Given the description of an element on the screen output the (x, y) to click on. 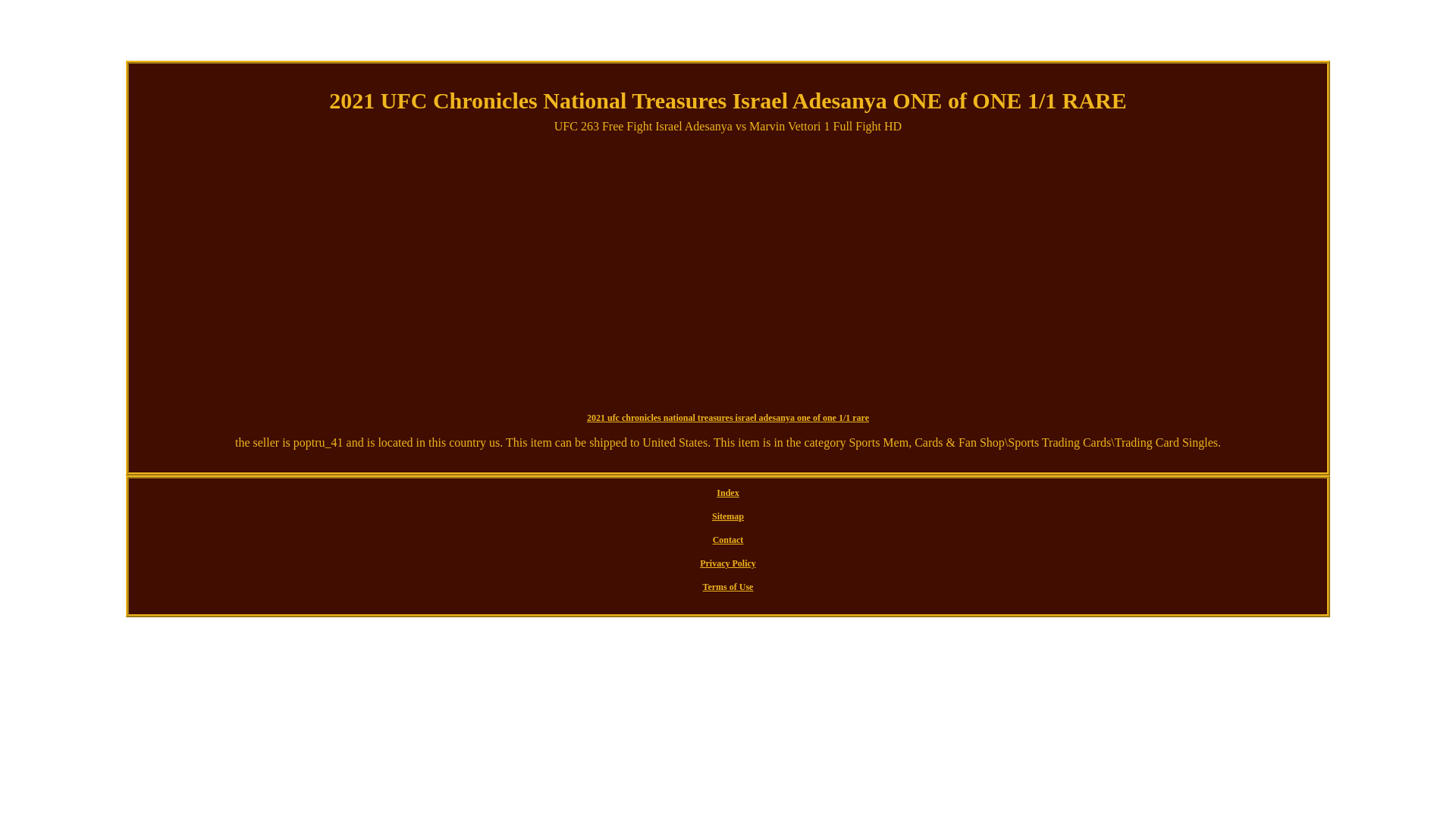
Privacy Policy Element type: text (727, 563)
Contact Element type: text (727, 540)
Terms of Use Element type: text (727, 587)
Index Element type: text (727, 492)
Sitemap Element type: text (727, 516)
